Given the description of an element on the screen output the (x, y) to click on. 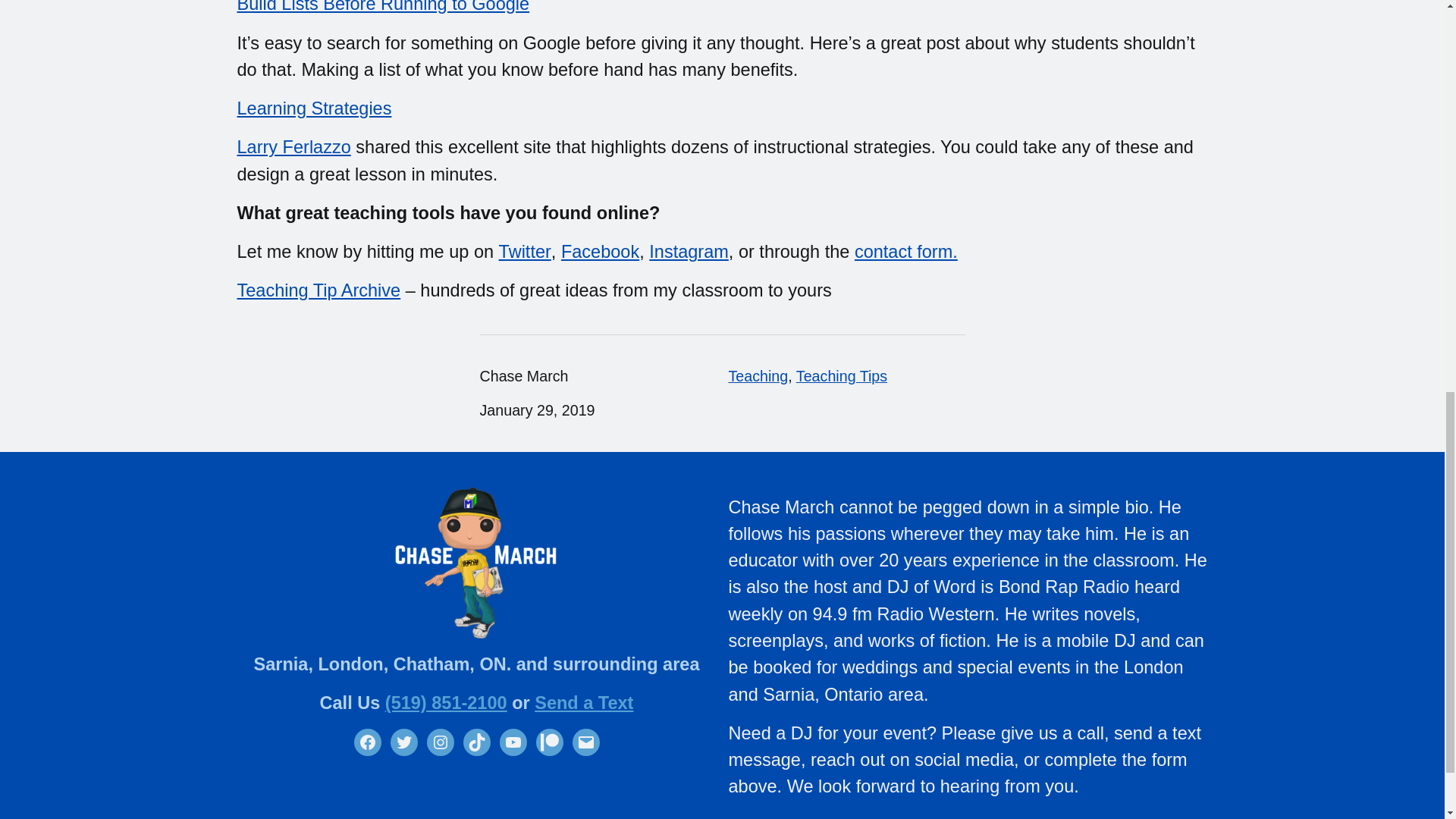
Teaching (757, 375)
Instagram (439, 741)
TikTok (476, 741)
Facebook (366, 741)
Twitter (403, 741)
Teaching Tips (841, 375)
Patreon (548, 741)
Send a Text (583, 702)
Teaching Tip Archive (317, 290)
YouTube (512, 741)
Twitter (525, 251)
Larry Ferlazzo (292, 147)
contact form. (906, 251)
Build Lists Before Running to Google (382, 6)
Facebook (599, 251)
